Given the description of an element on the screen output the (x, y) to click on. 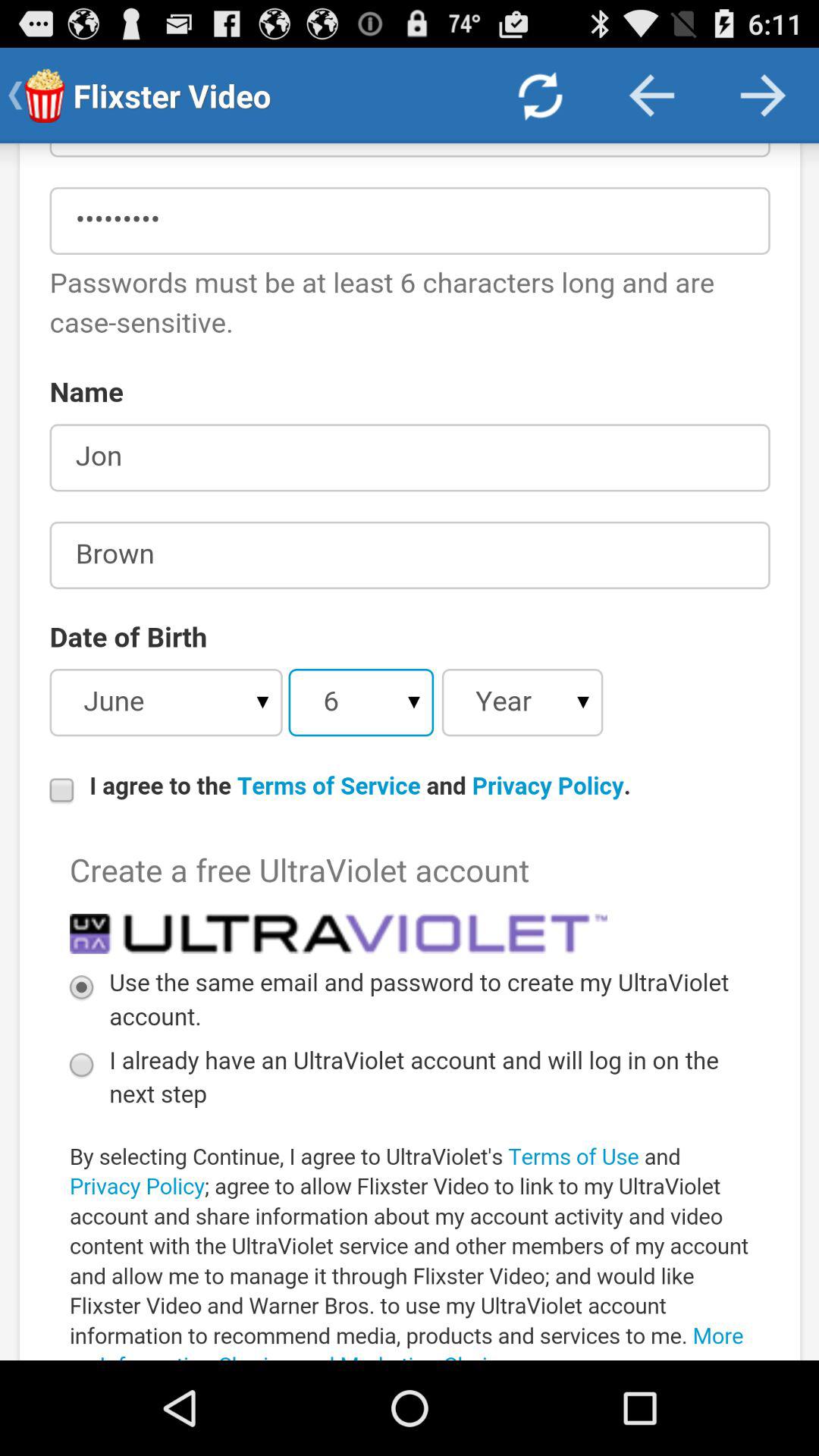
fill the form (409, 751)
